Given the description of an element on the screen output the (x, y) to click on. 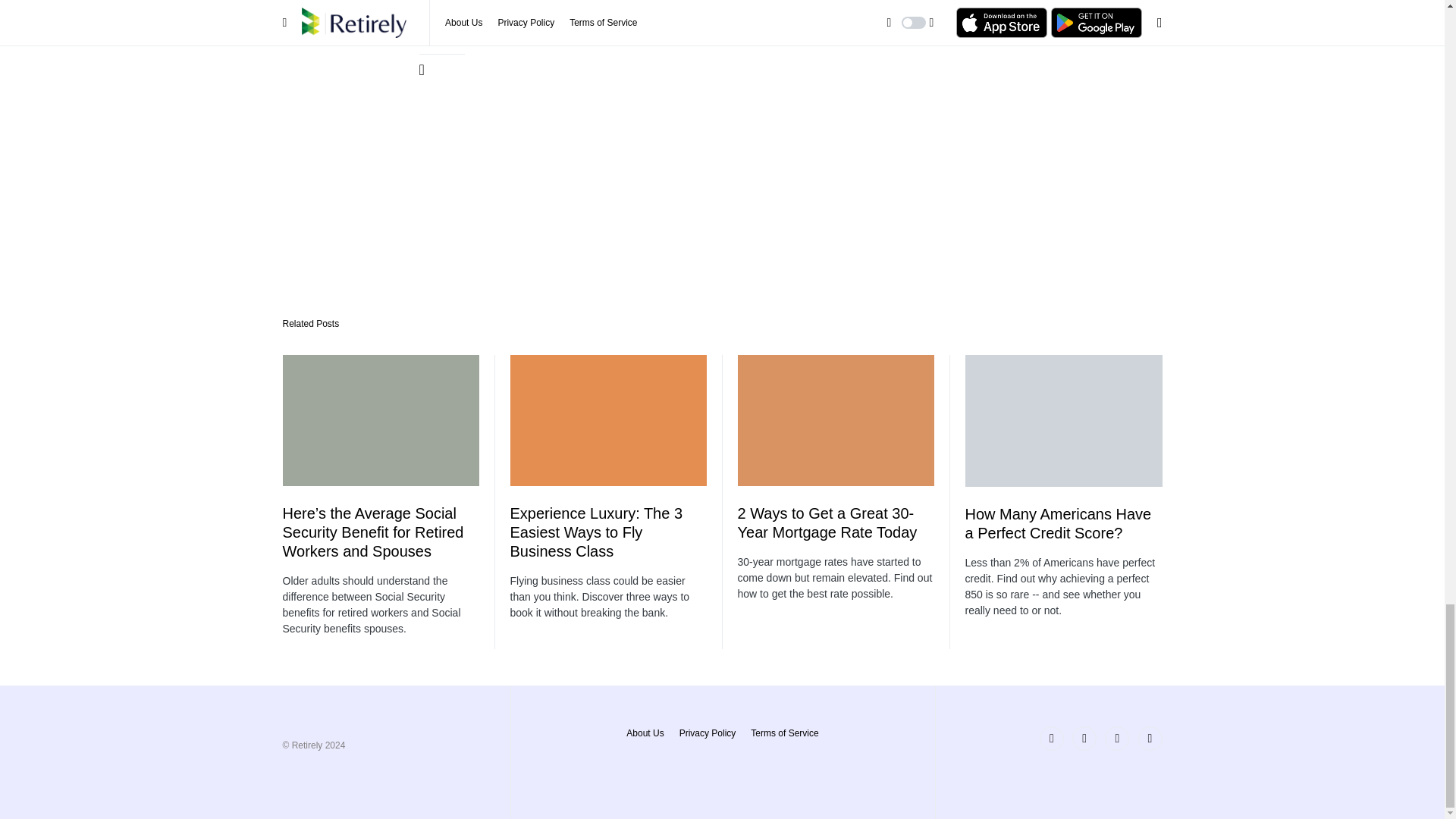
Experience Luxury: The 3 Easiest Ways to Fly Business Class (595, 532)
How Many Americans Have a Perfect Credit Score? (1057, 523)
About Us (644, 733)
2 Ways to Get a Great 30-Year Mortgage Rate Today (826, 522)
